Given the description of an element on the screen output the (x, y) to click on. 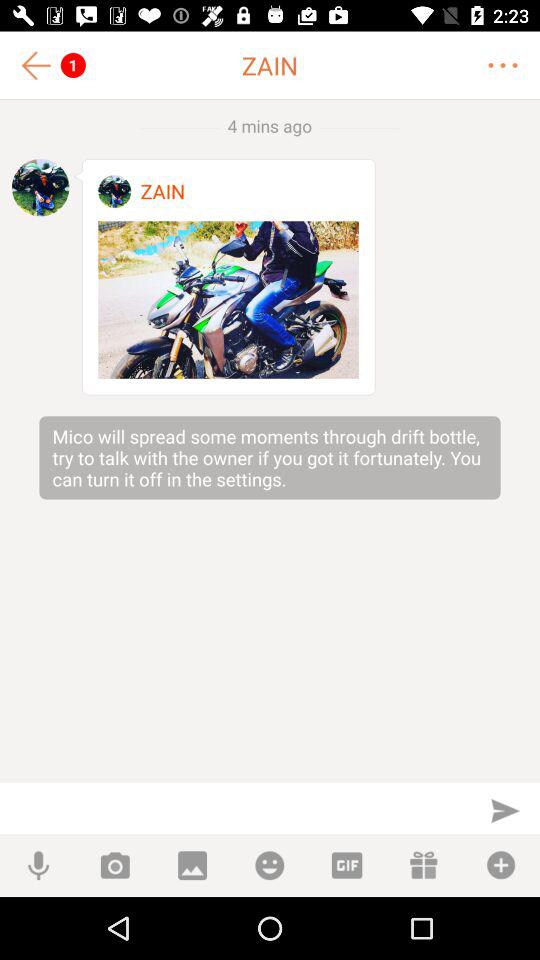
speech recognition (38, 865)
